Given the description of an element on the screen output the (x, y) to click on. 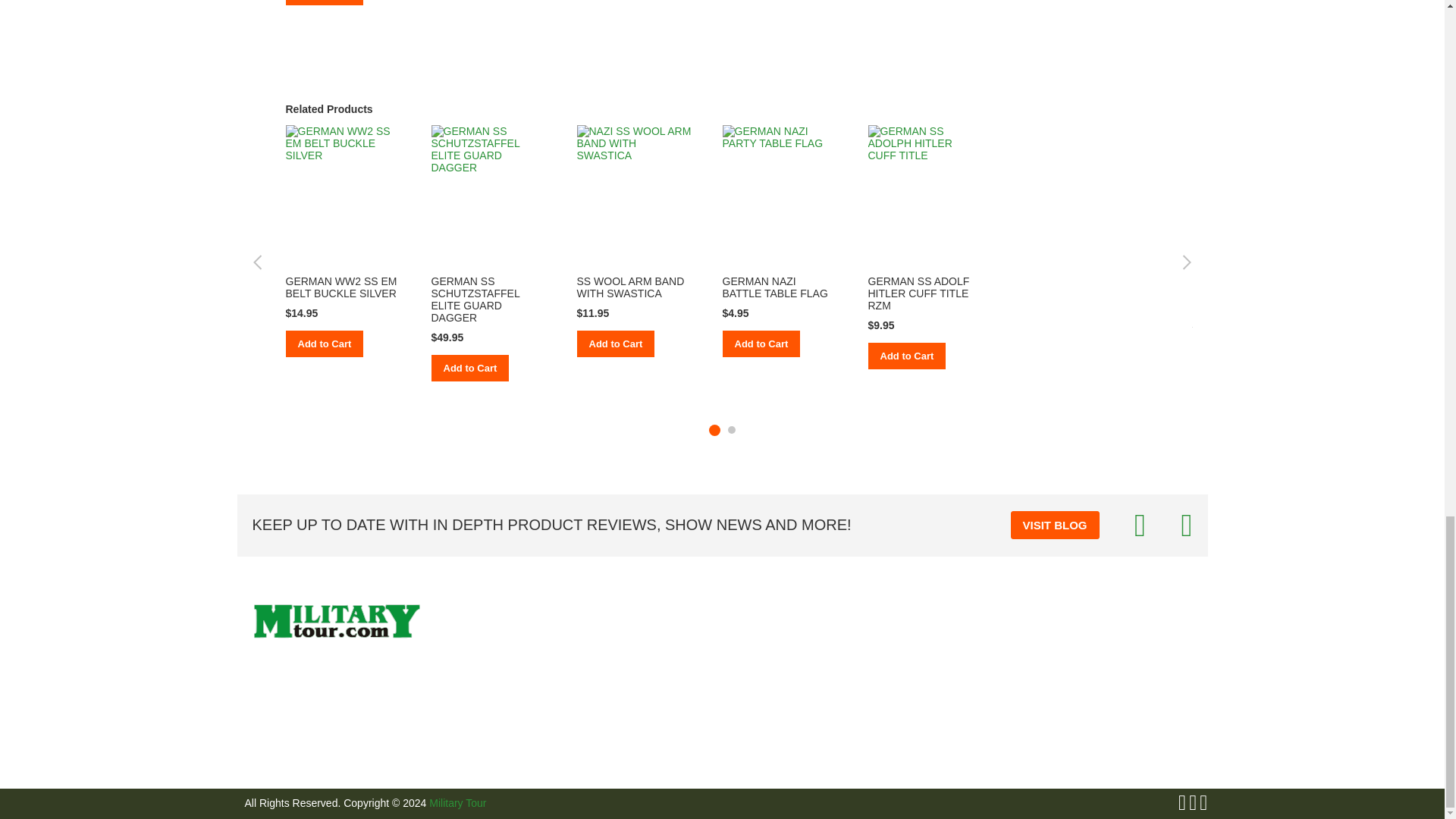
SS WOOL ARM BAND WITH SWASTICA (630, 287)
Add to Cart (614, 343)
GERMAN SS SCHUTZSTAFFEL ELITE GUARD DAGGER (474, 299)
Add to Cart (323, 343)
Add to Cart (469, 367)
Add to Cart (323, 2)
GERMAN WW2 SS EM BELT BUCKLE SILVER (340, 287)
